Given the description of an element on the screen output the (x, y) to click on. 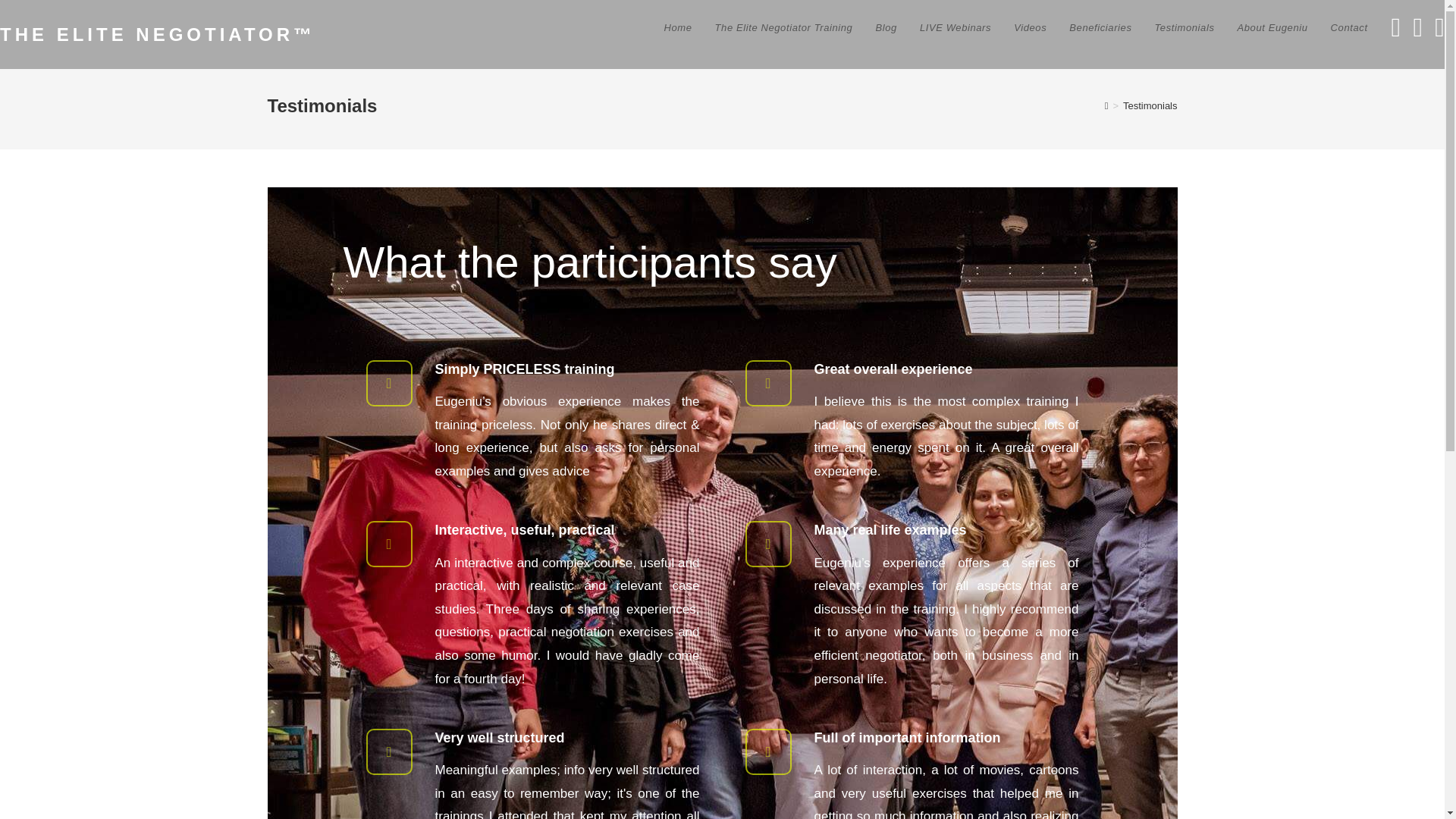
LIVE Webinars (955, 28)
Videos (1030, 28)
Home (677, 28)
The Elite Negotiator Beneficiaries (1100, 28)
The Elite Negotiator Training (783, 28)
The Elite Negotiator Videos (1030, 28)
The Elite Negotiator Home (677, 28)
About Eugeniu (1272, 28)
Contact (1348, 28)
Testimonials (1149, 105)
Beneficiaries (1100, 28)
Testimonials (1183, 28)
